Given the description of an element on the screen output the (x, y) to click on. 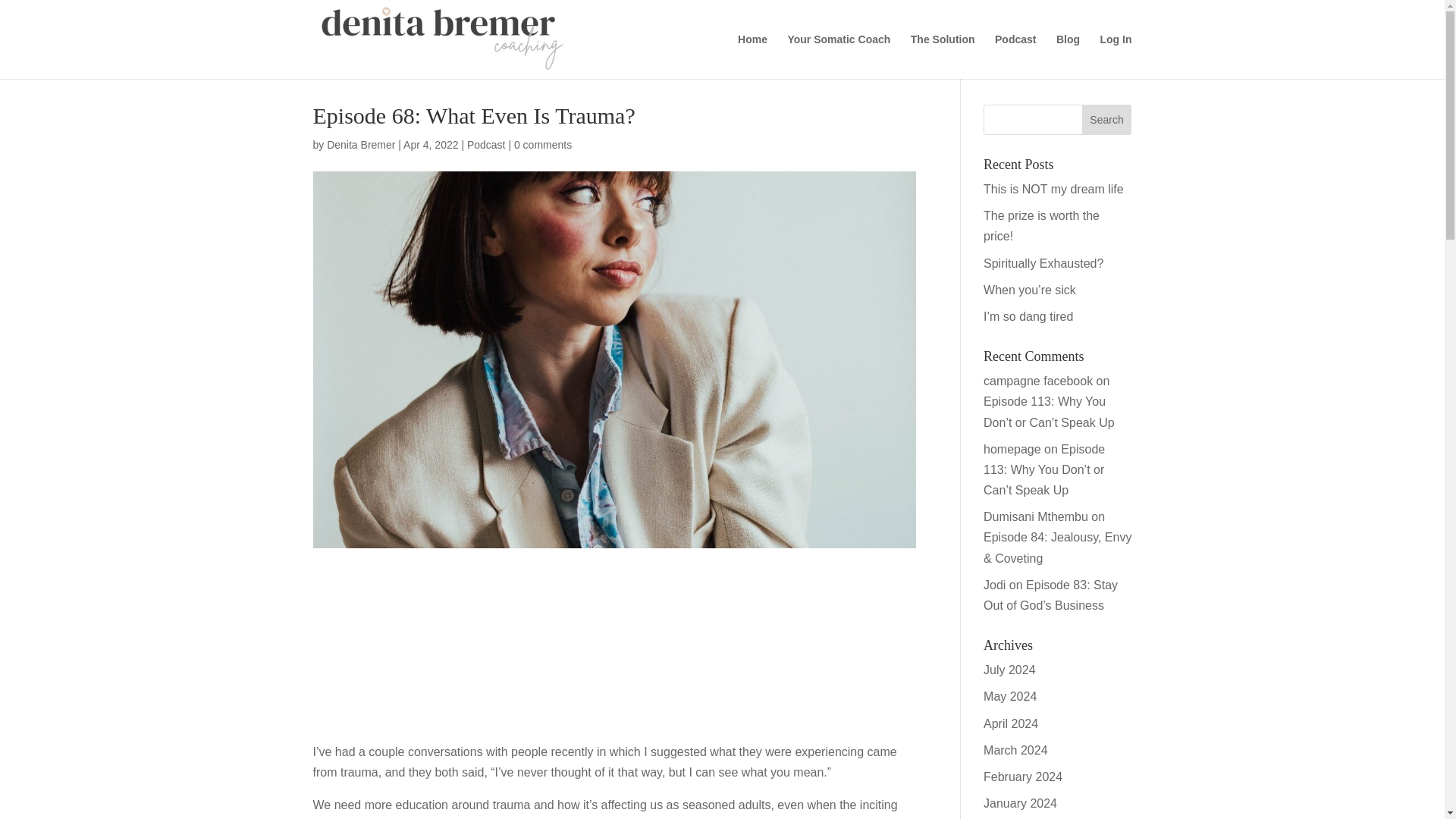
April 2024 (1011, 723)
January 2024 (1020, 802)
Search (1106, 119)
The prize is worth the price! (1041, 225)
February 2024 (1023, 776)
Podcast (486, 144)
campagne facebook (1038, 380)
Spiritually Exhausted? (1043, 263)
July 2024 (1009, 669)
The Solution (943, 56)
Posts by Denita Bremer (360, 144)
homepage (1012, 449)
May 2024 (1010, 696)
Search (1106, 119)
Your Somatic Coach (838, 56)
